Given the description of an element on the screen output the (x, y) to click on. 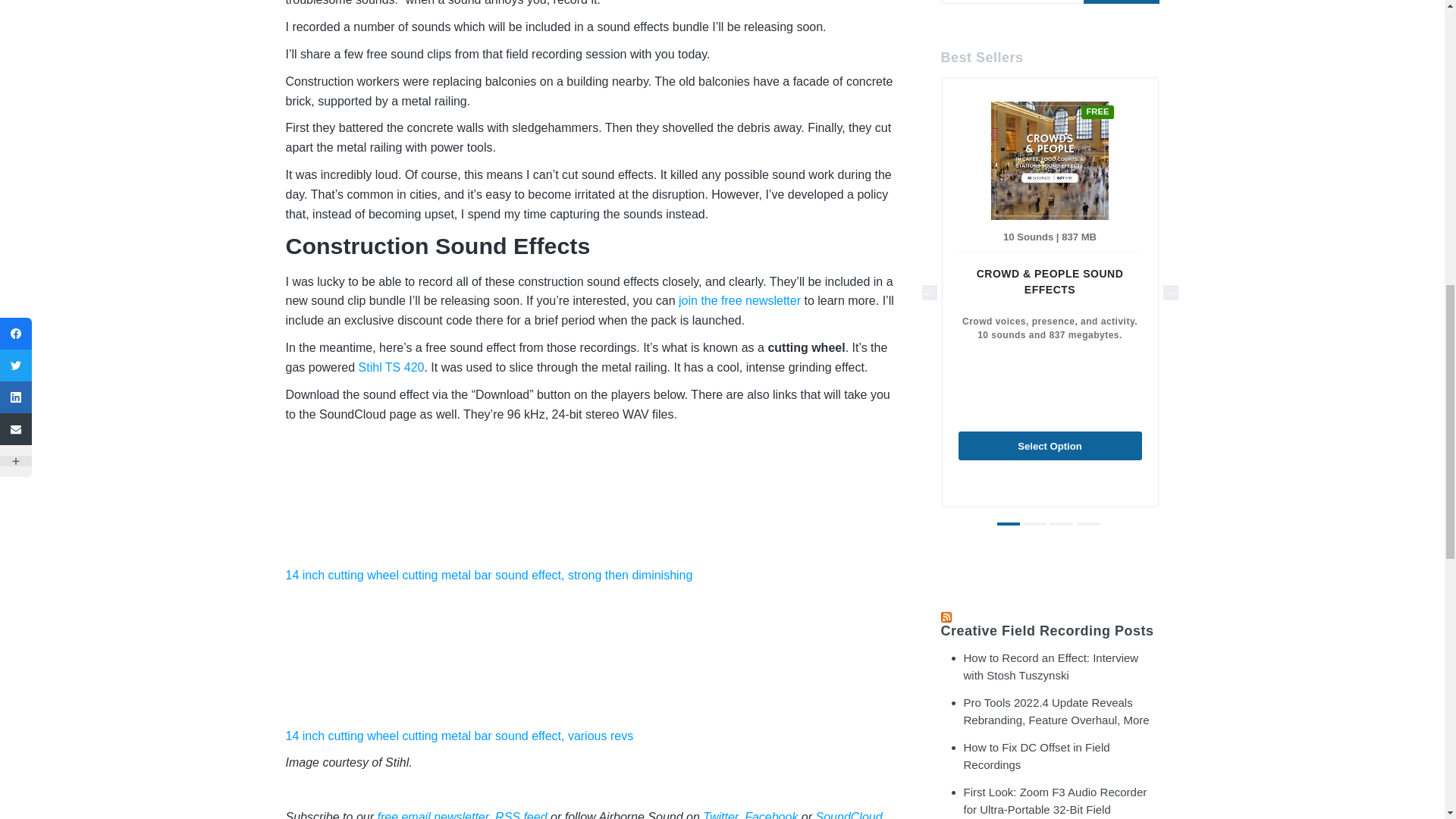
Stihl TS 420 (391, 367)
RSS feed (521, 814)
Search (1120, 2)
Twitter (720, 814)
free email newsletter (432, 814)
Search (1120, 2)
join the free newsletter (739, 300)
